Given the description of an element on the screen output the (x, y) to click on. 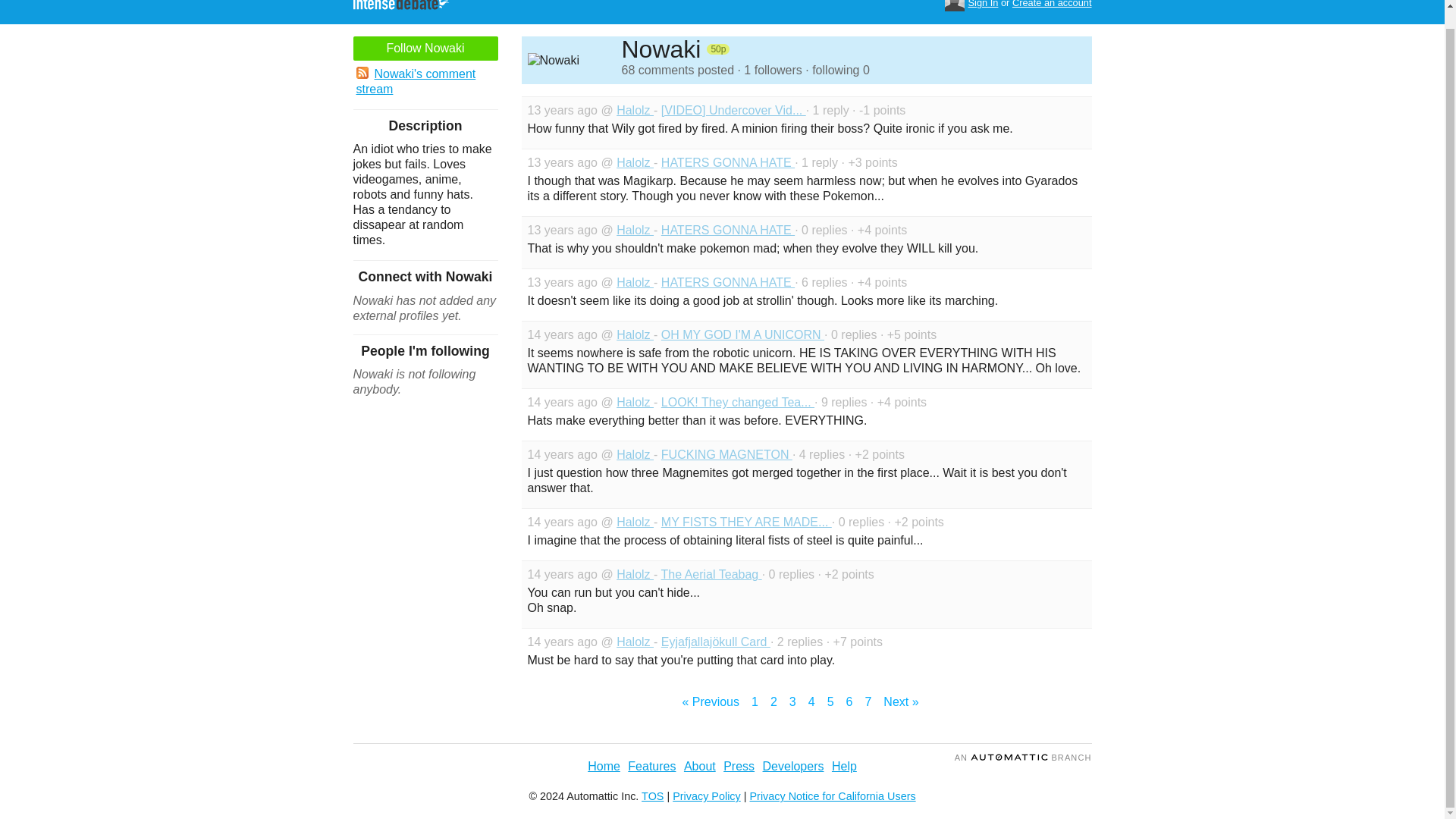
Halolz (634, 401)
The Aerial Teabag (711, 574)
2 (773, 702)
Halolz (634, 334)
AN BRANCH (1023, 757)
MY FISTS THEY ARE MADE... (746, 521)
Halolz (634, 641)
1 (754, 702)
HATERS GONNA HATE (727, 282)
Halolz (634, 162)
3 (792, 702)
Halolz (634, 282)
Sign In (983, 4)
OH MY GOD I'M A UNICORN (742, 334)
